Given the description of an element on the screen output the (x, y) to click on. 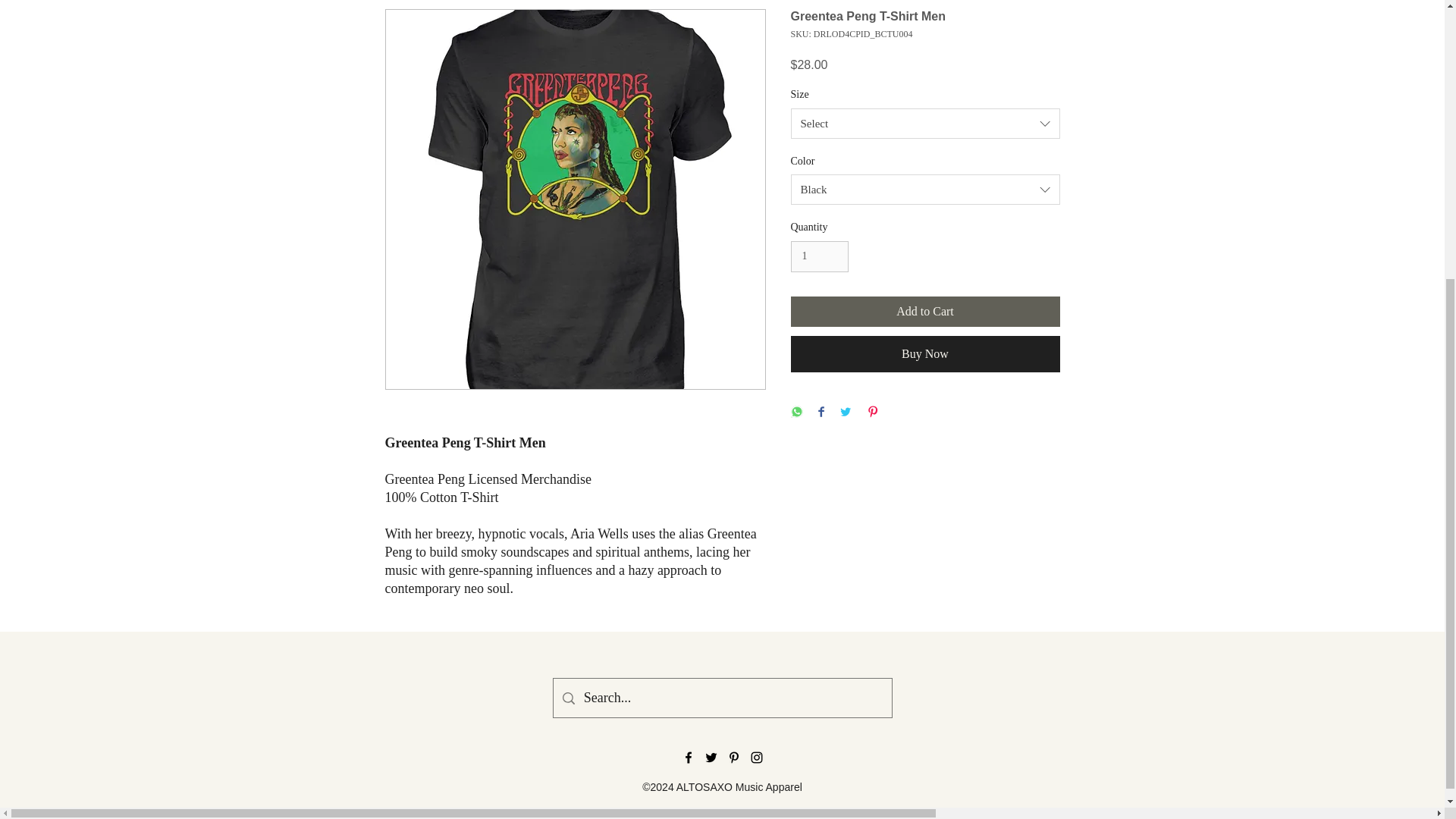
Black (924, 189)
Select (924, 123)
Add to Cart (924, 311)
Buy Now (924, 353)
1 (818, 255)
